Given the description of an element on the screen output the (x, y) to click on. 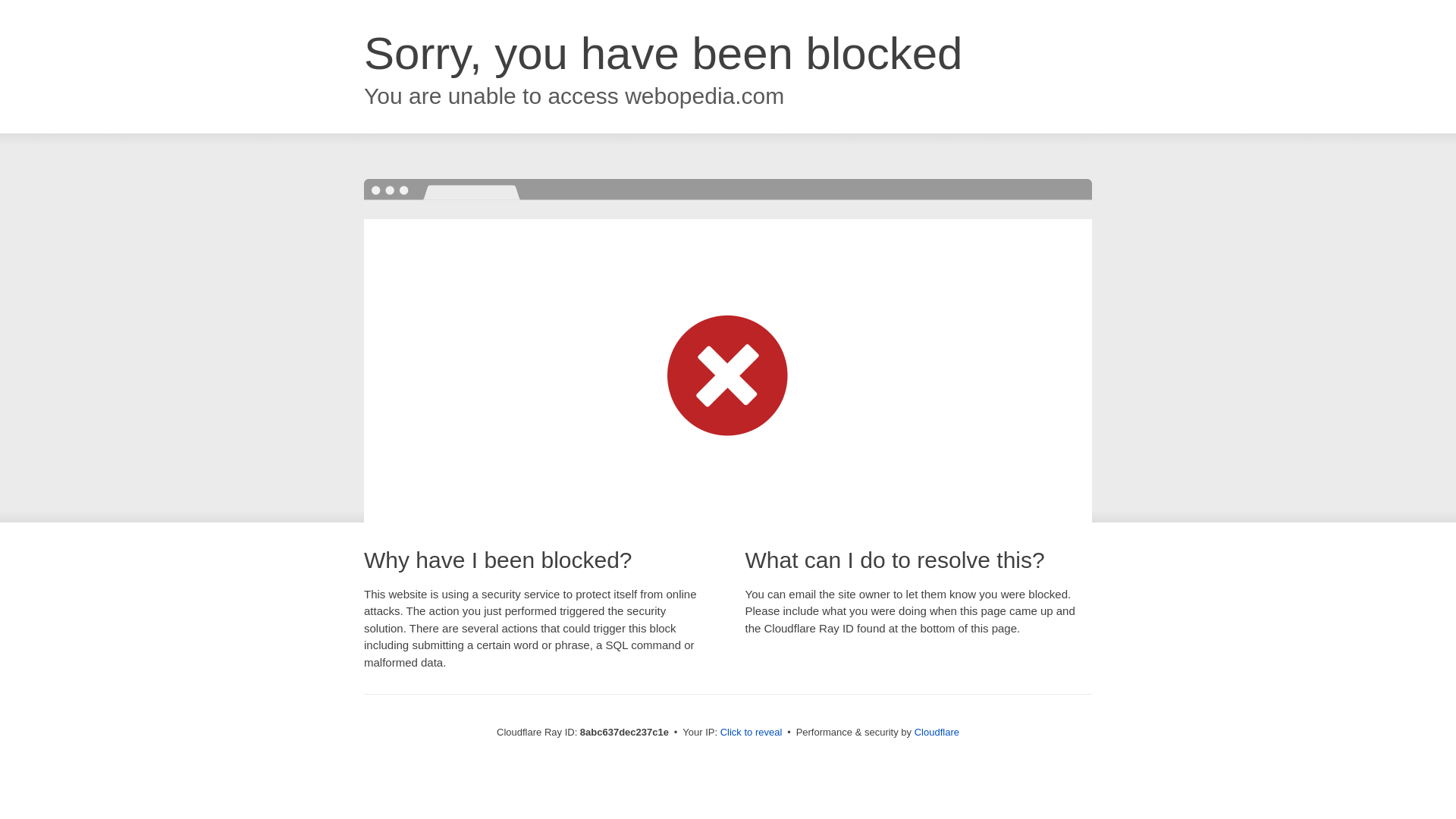
Click to reveal (751, 732)
Cloudflare (936, 731)
